Given the description of an element on the screen output the (x, y) to click on. 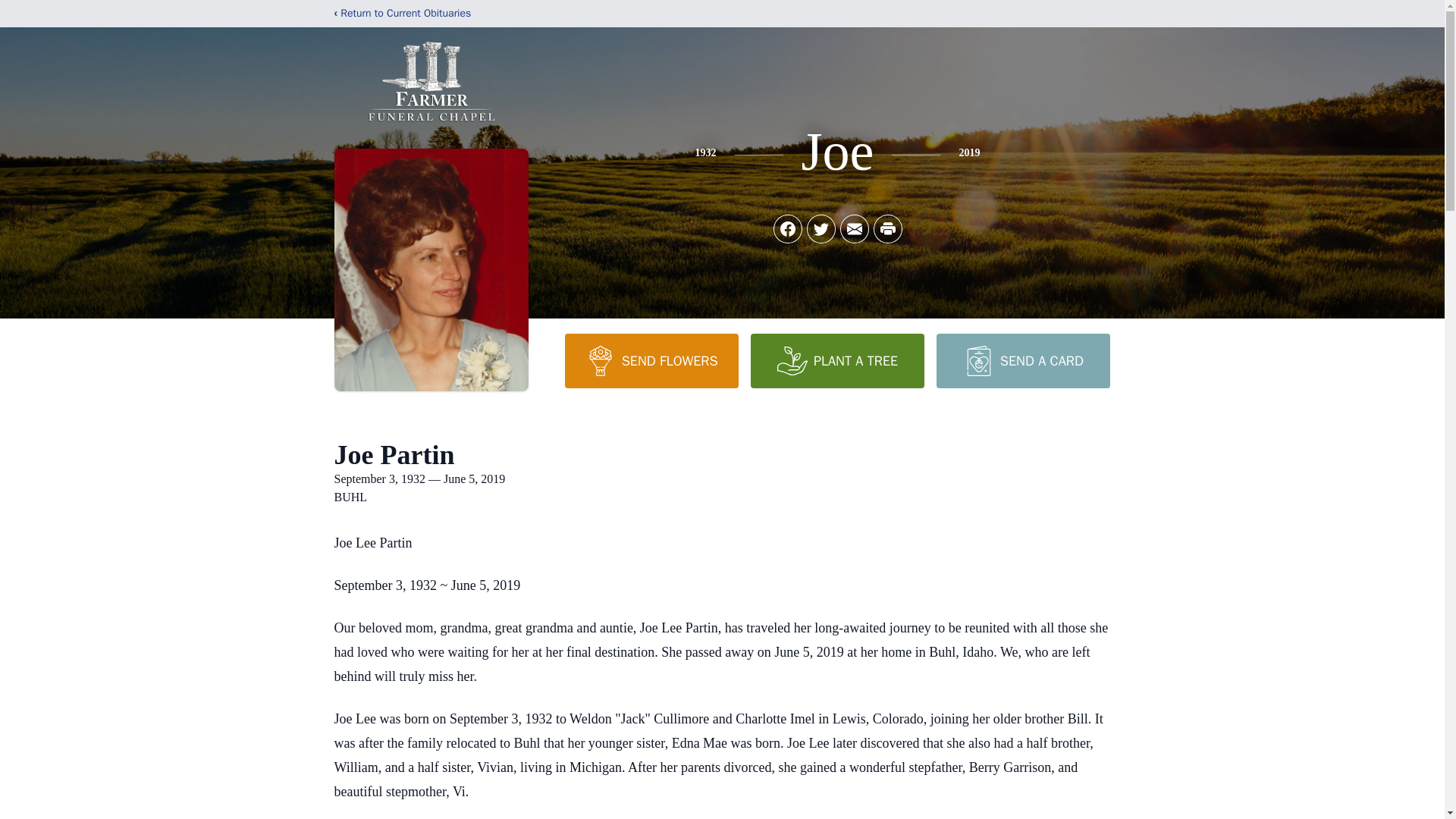
SEND A CARD (1022, 360)
SEND FLOWERS (651, 360)
PLANT A TREE (837, 360)
